Given the description of an element on the screen output the (x, y) to click on. 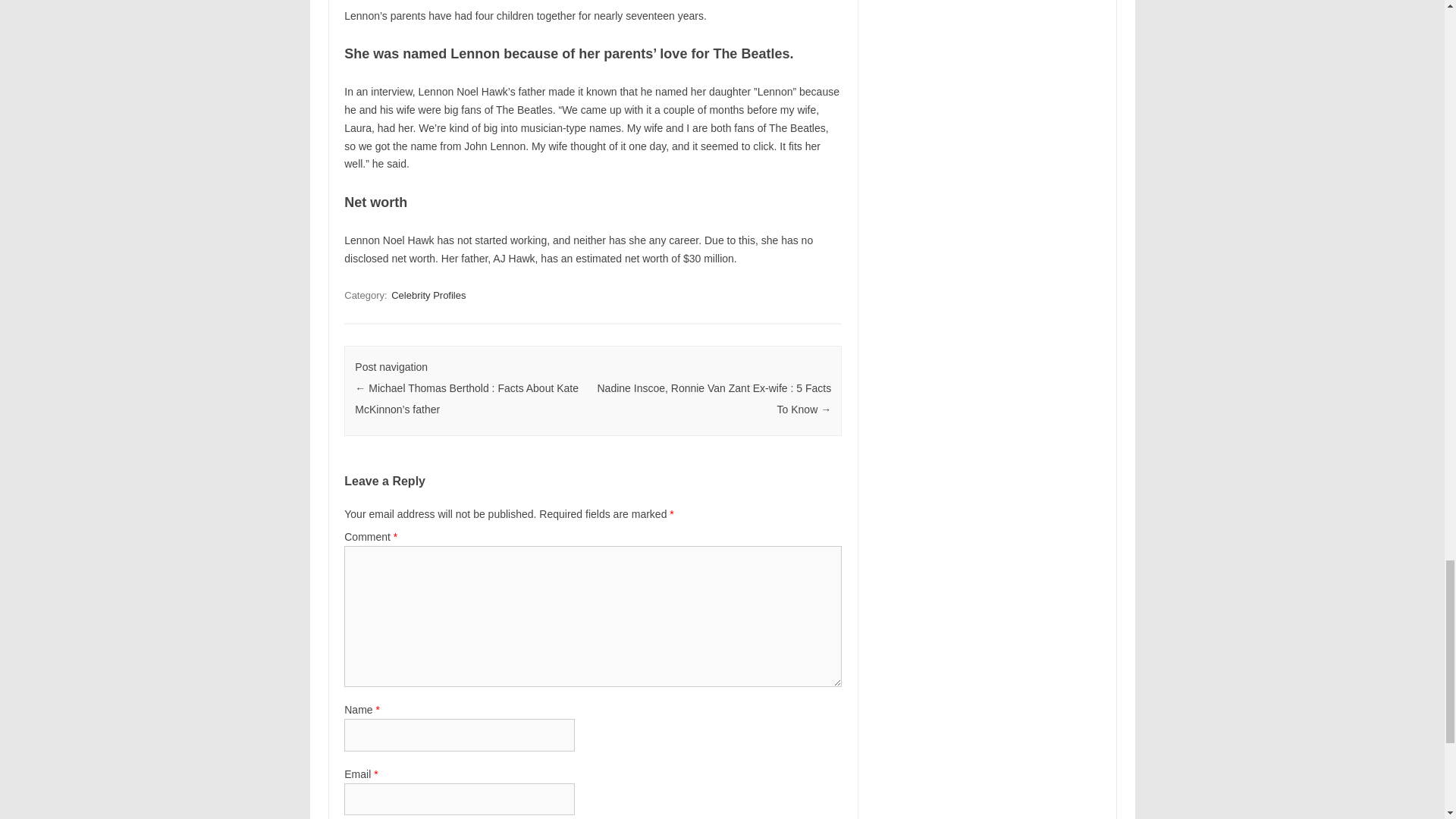
Celebrity Profiles (428, 295)
